Given the description of an element on the screen output the (x, y) to click on. 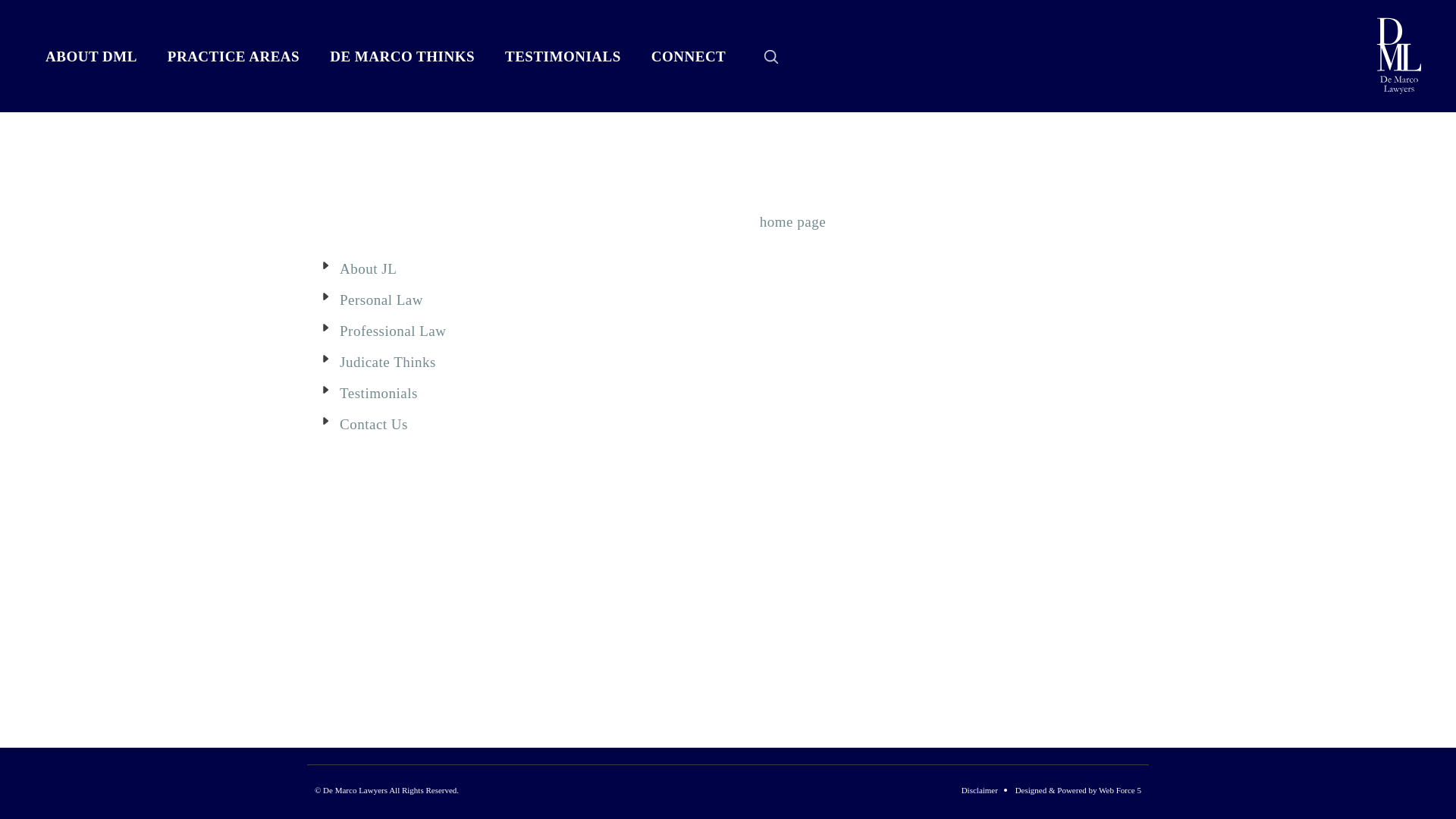
home page  Element type: text (794, 221)
Personal Law Element type: text (381, 299)
Professional Law Element type: text (392, 330)
TESTIMONIALS Element type: text (562, 56)
ABOUT DML Element type: text (91, 56)
PRACTICE AREAS Element type: text (233, 56)
Designed & Powered by Web Force 5 Element type: text (1077, 789)
Judicate Thinks Element type: text (387, 362)
Testimonials Element type: text (378, 393)
CONNECT Element type: text (688, 56)
Contact Us Element type: text (373, 424)
About JL Element type: text (367, 268)
DE MARCO THINKS Element type: text (401, 56)
Disclaimer Element type: text (979, 789)
